Given the description of an element on the screen output the (x, y) to click on. 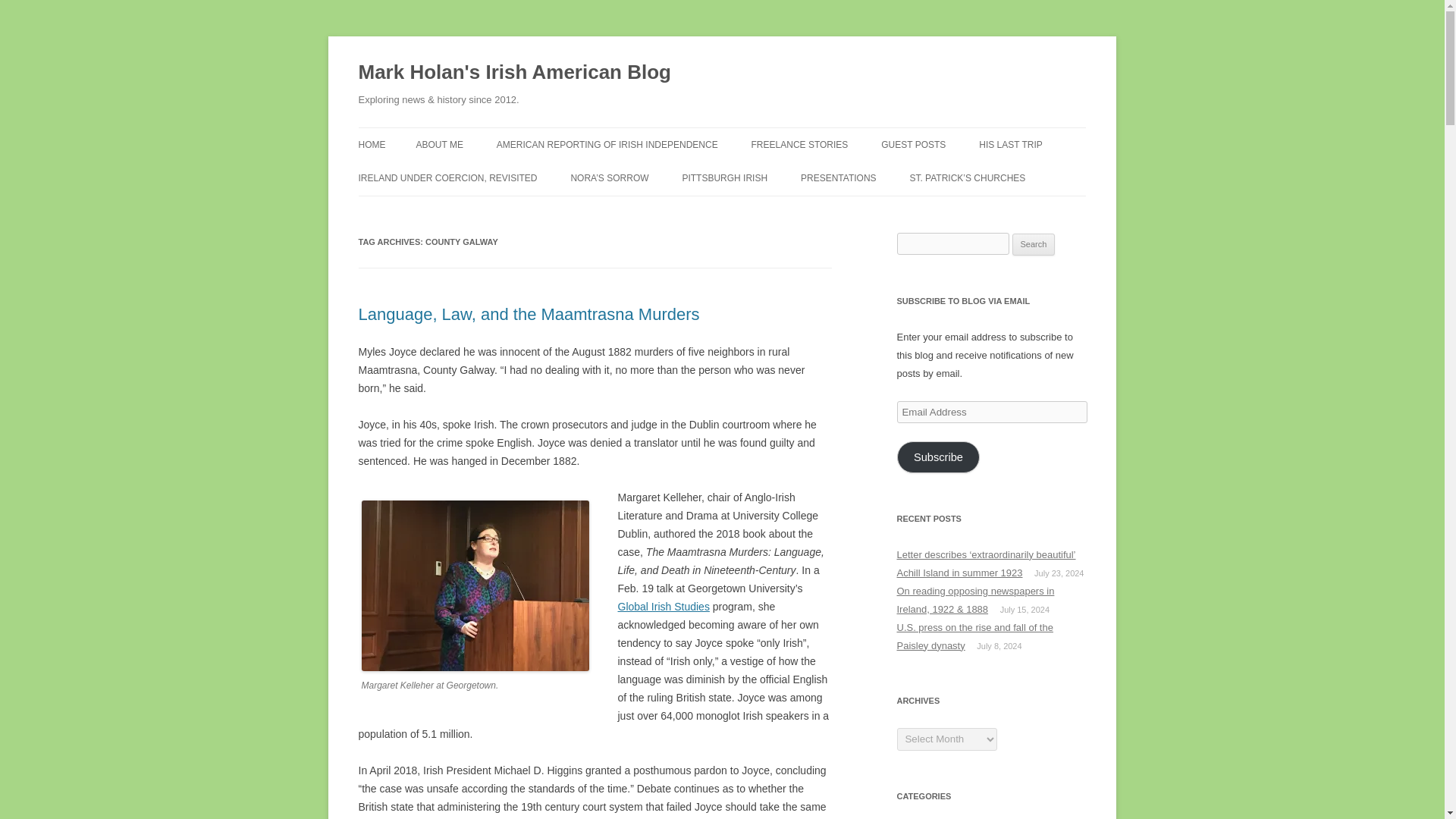
ABOUT ME (438, 144)
Language, Law, and the Maamtrasna Murders (528, 313)
Global Irish Studies (663, 606)
FREELANCE STORIES (799, 144)
PRESENTATIONS (838, 177)
Search (1033, 244)
HIS LAST TRIP (1010, 144)
IRELAND UNDER COERCION, REVISITED (447, 177)
PITTSBURGH IRISH (724, 177)
GUEST POSTS (912, 144)
Mark Holan's Irish American Blog (513, 72)
AMERICAN REPORTING OF IRISH INDEPENDENCE (606, 144)
